Given the description of an element on the screen output the (x, y) to click on. 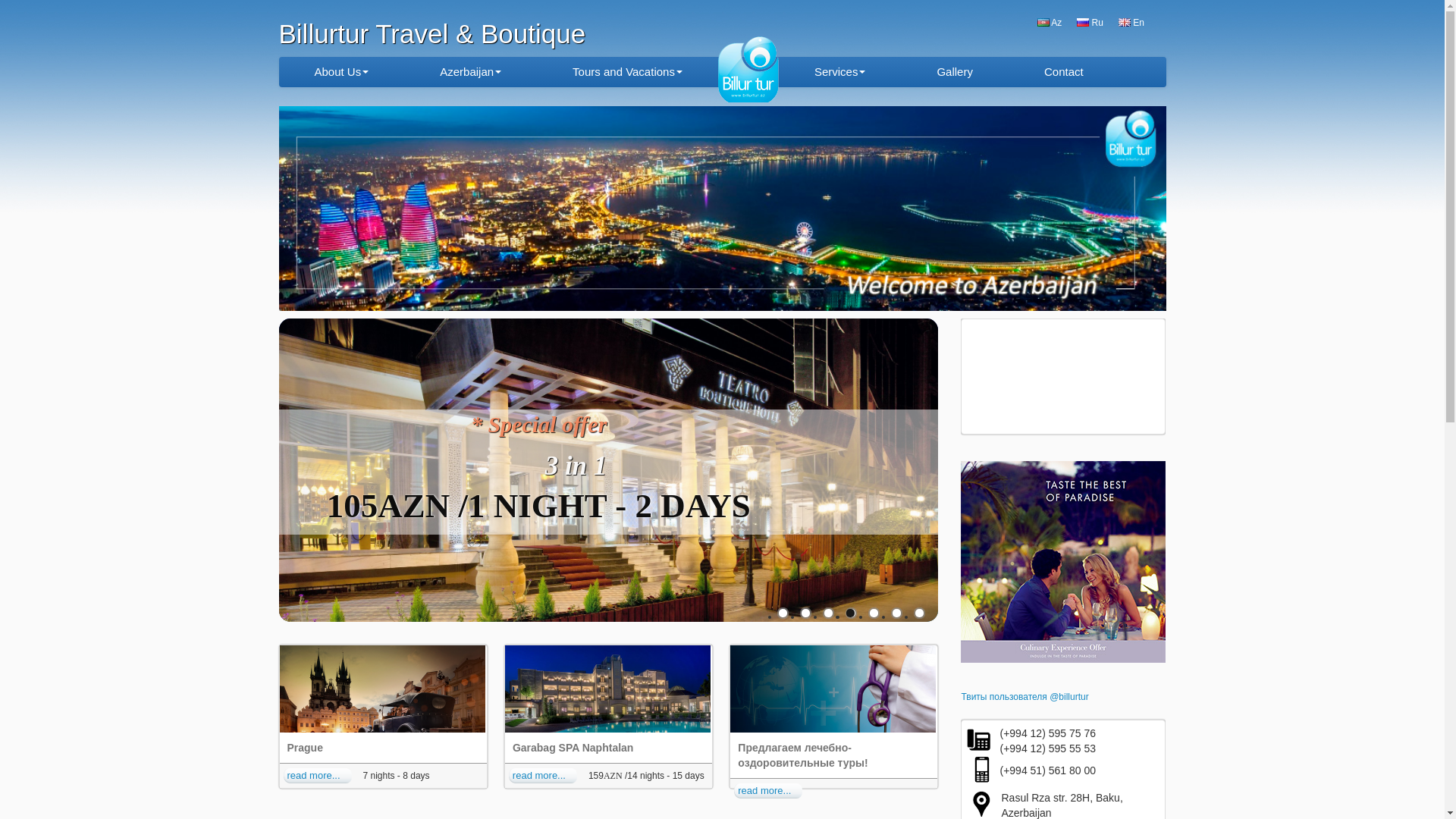
Azerbaijan Element type: text (470, 71)
read more... Element type: text (542, 775)
En Element type: text (1131, 22)
Slide 1 Element type: text (805, 612)
Slide 6 Element type: text (919, 612)
Tours and Vacations Element type: text (627, 71)
Slide 5 Element type: text (896, 612)
About Us Element type: text (341, 71)
* Package tour


Welcome to Baku!
419$AZN /3 NIGHTS - 4 DAYS Element type: text (608, 469)
read more... Element type: text (768, 790)
Services Element type: text (839, 71)
Az Element type: text (1049, 22)
Billurtur Element type: hover (753, 77)
Gallery Element type: text (954, 71)
read more... Element type: text (317, 775)
Slide 3 Element type: text (851, 612)
Billurtur Travel & Boutique Element type: text (432, 39)
Slide 2 Element type: text (828, 612)
Contact Element type: text (1063, 71)
Slide Element type: text (782, 612)
Ru Element type: text (1089, 22)
Slide 4 Element type: text (873, 612)
